Given the description of an element on the screen output the (x, y) to click on. 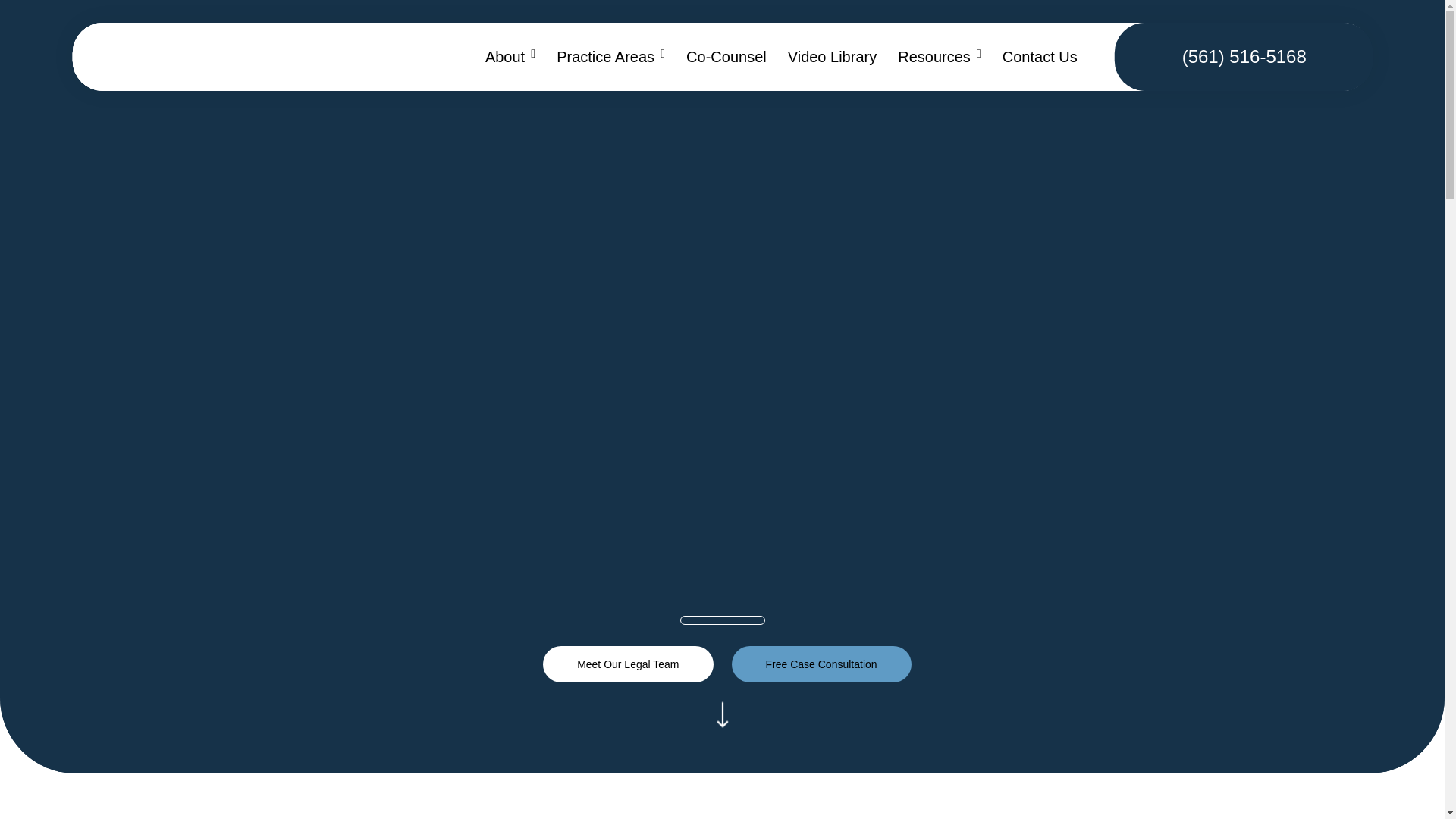
About (504, 56)
Video Library (831, 56)
Co-Counsel (726, 56)
Practice Areas (605, 56)
